Given the description of an element on the screen output the (x, y) to click on. 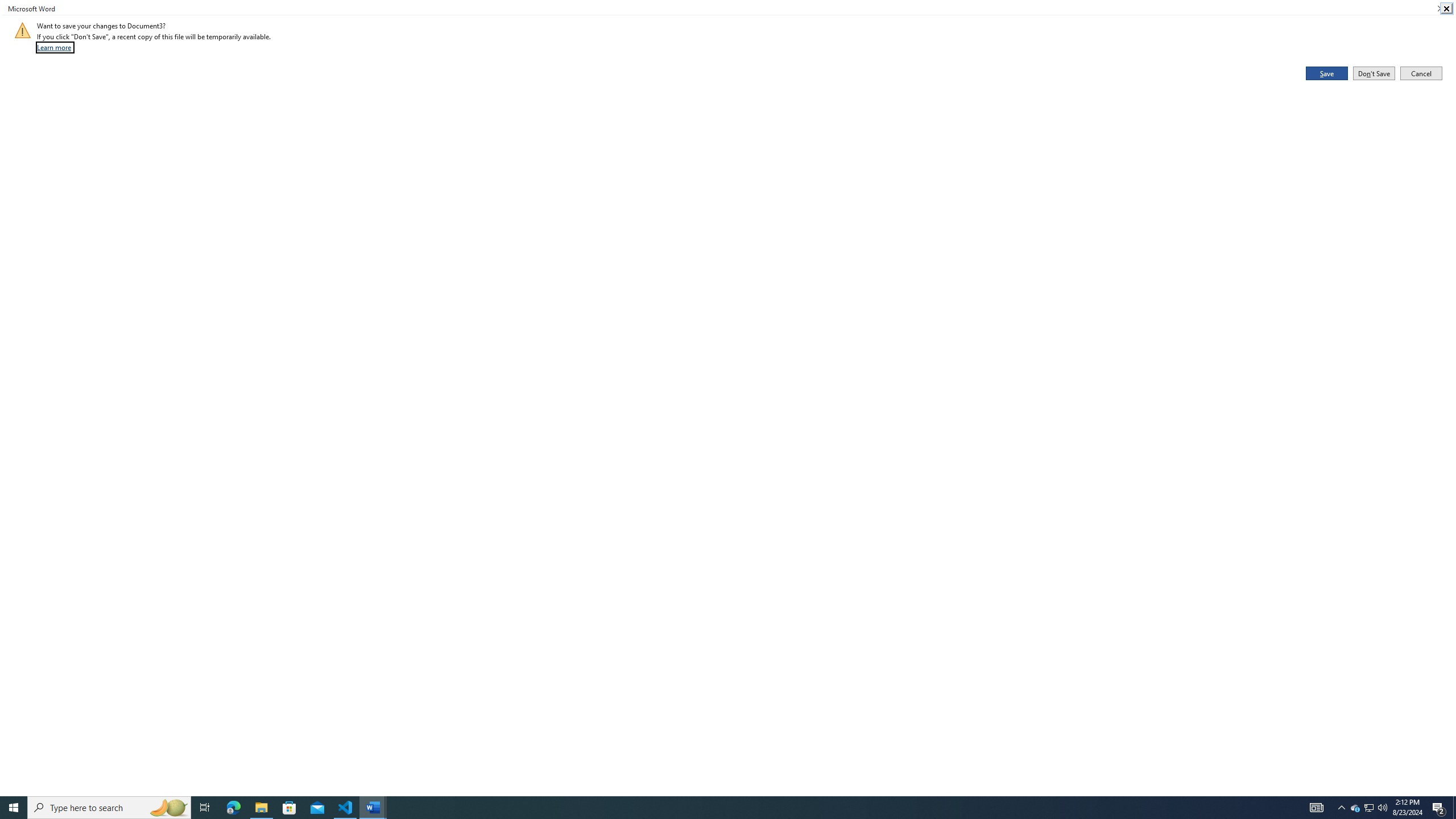
Learn more (54, 47)
Cancel (1421, 73)
Don't Save (1373, 73)
